Given the description of an element on the screen output the (x, y) to click on. 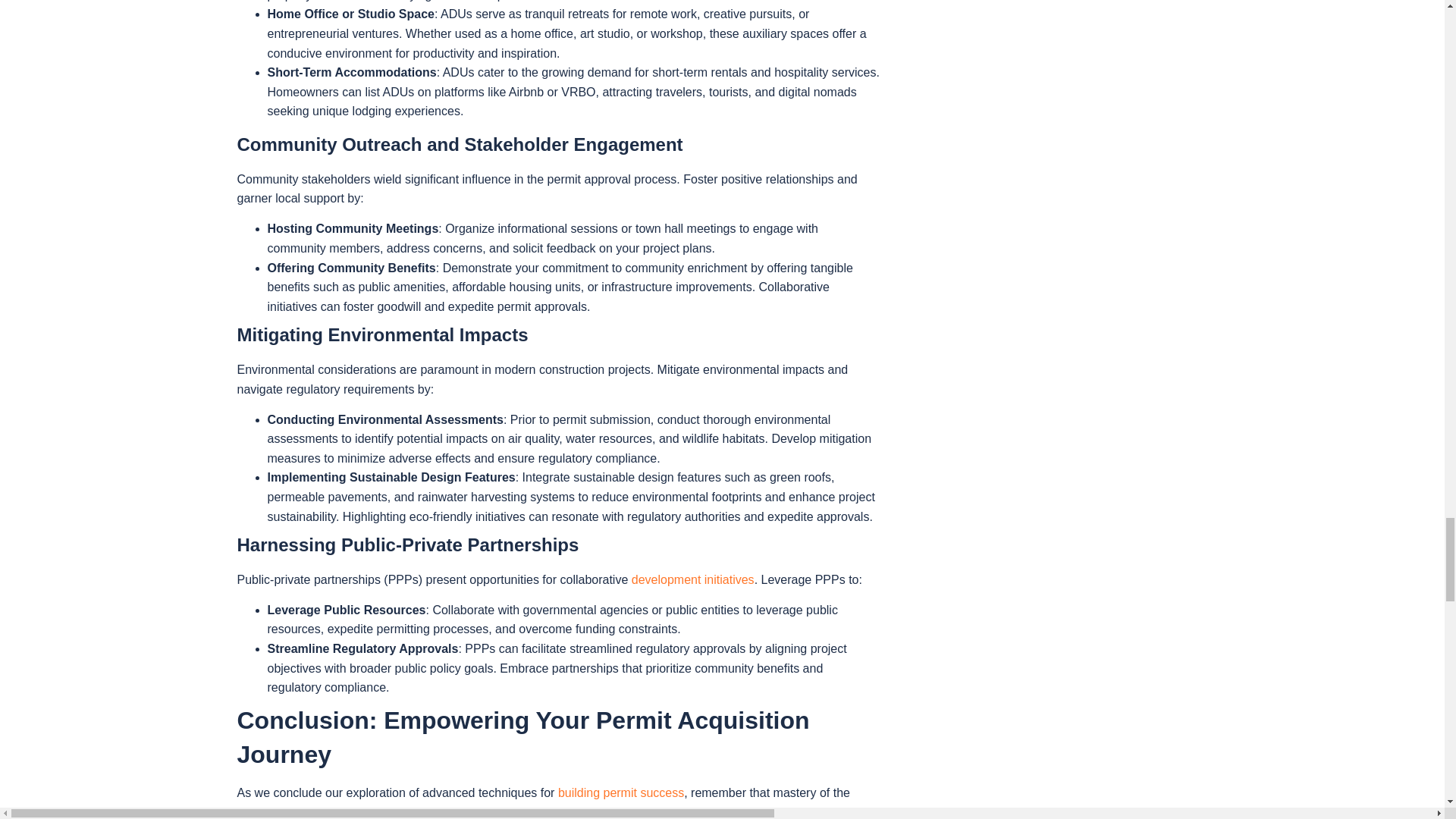
development initiatives (692, 579)
building permit success (620, 792)
